Given the description of an element on the screen output the (x, y) to click on. 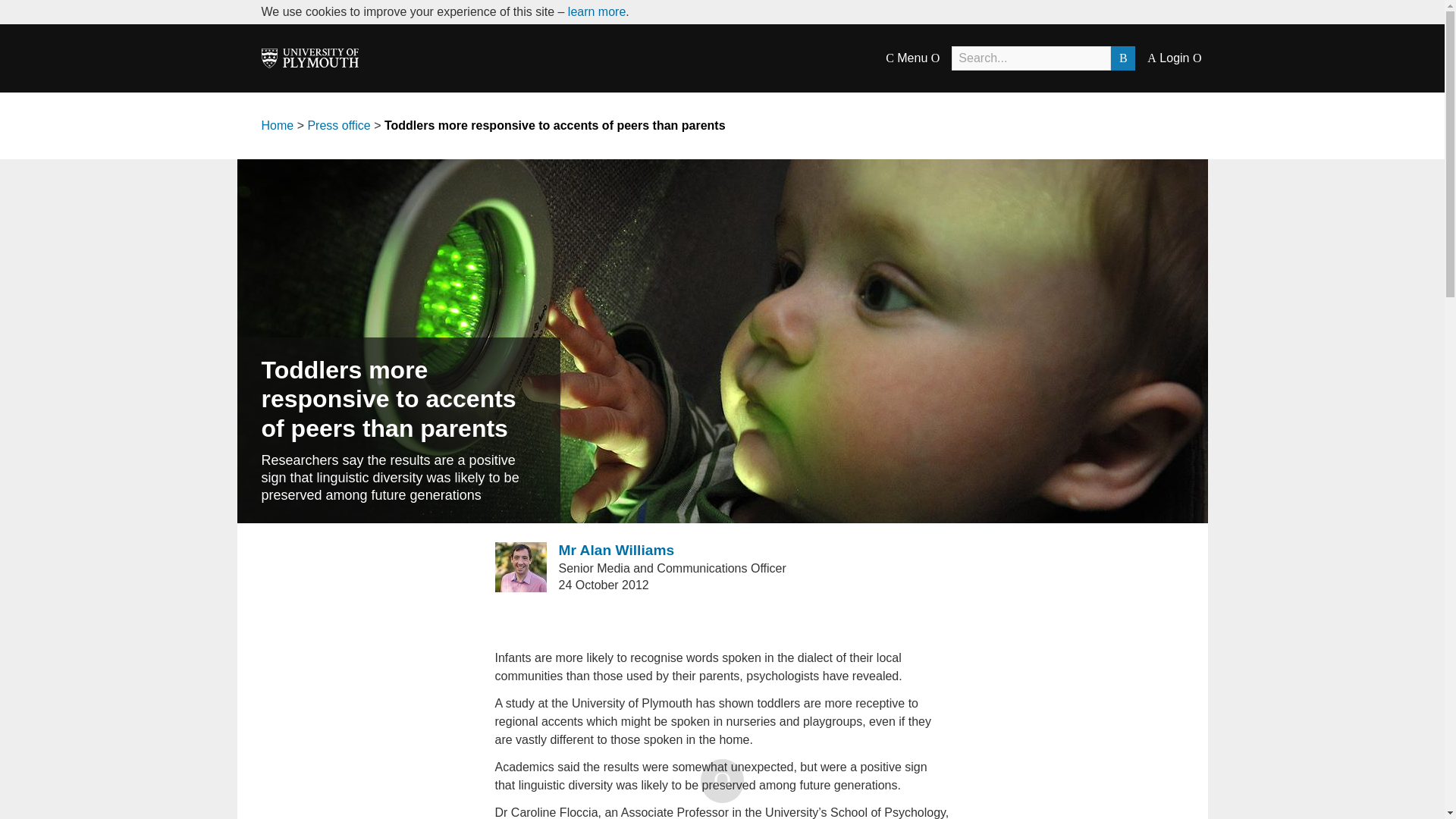
C Menu O (911, 58)
B (1122, 57)
learn more (596, 11)
A Login O (1174, 58)
